Given the description of an element on the screen output the (x, y) to click on. 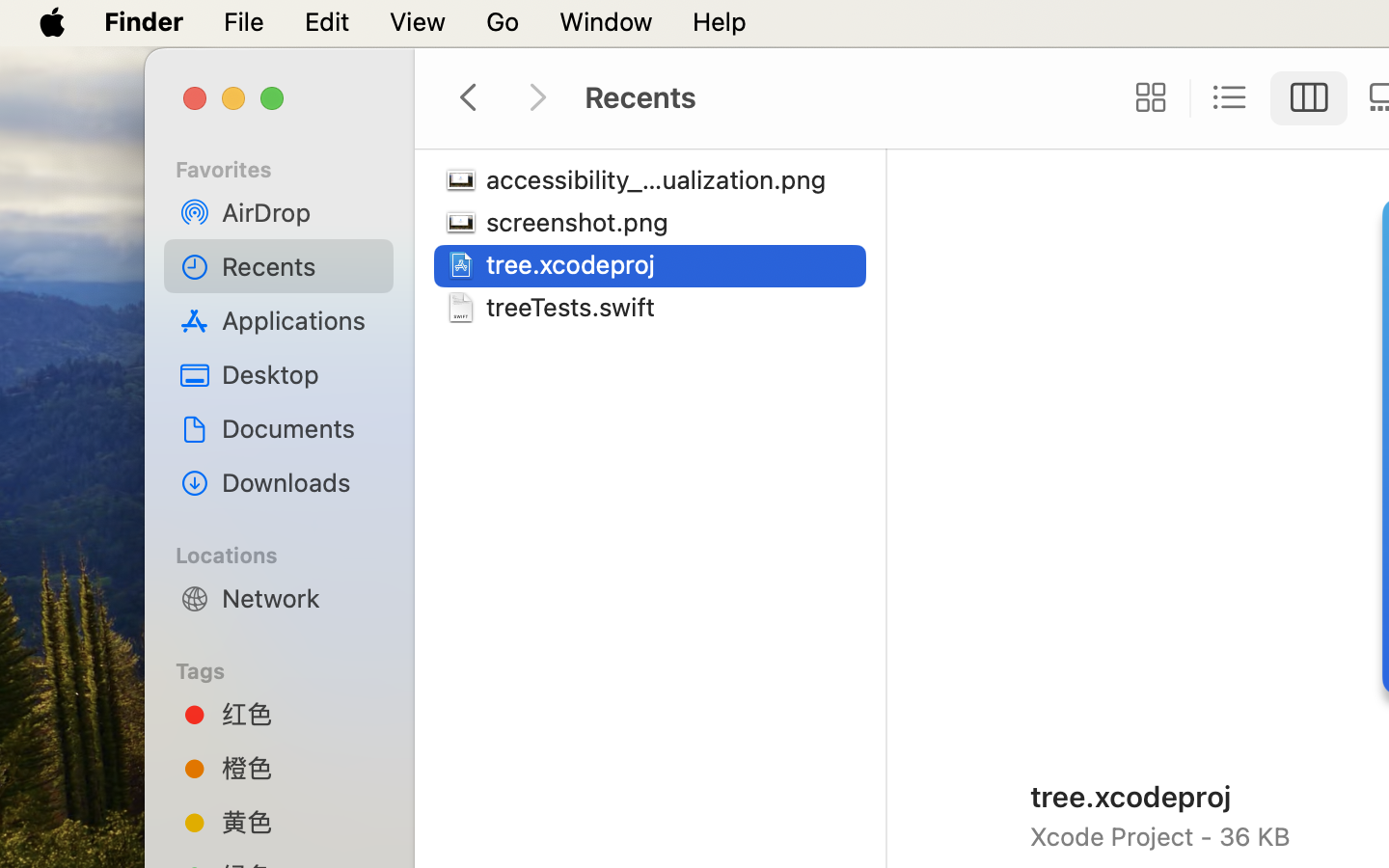
Applications Element type: AXStaticText (299, 319)
1 Element type: AXRadioButton (1308, 97)
Favorites Element type: AXStaticText (289, 166)
Network Element type: AXStaticText (299, 597)
